Given the description of an element on the screen output the (x, y) to click on. 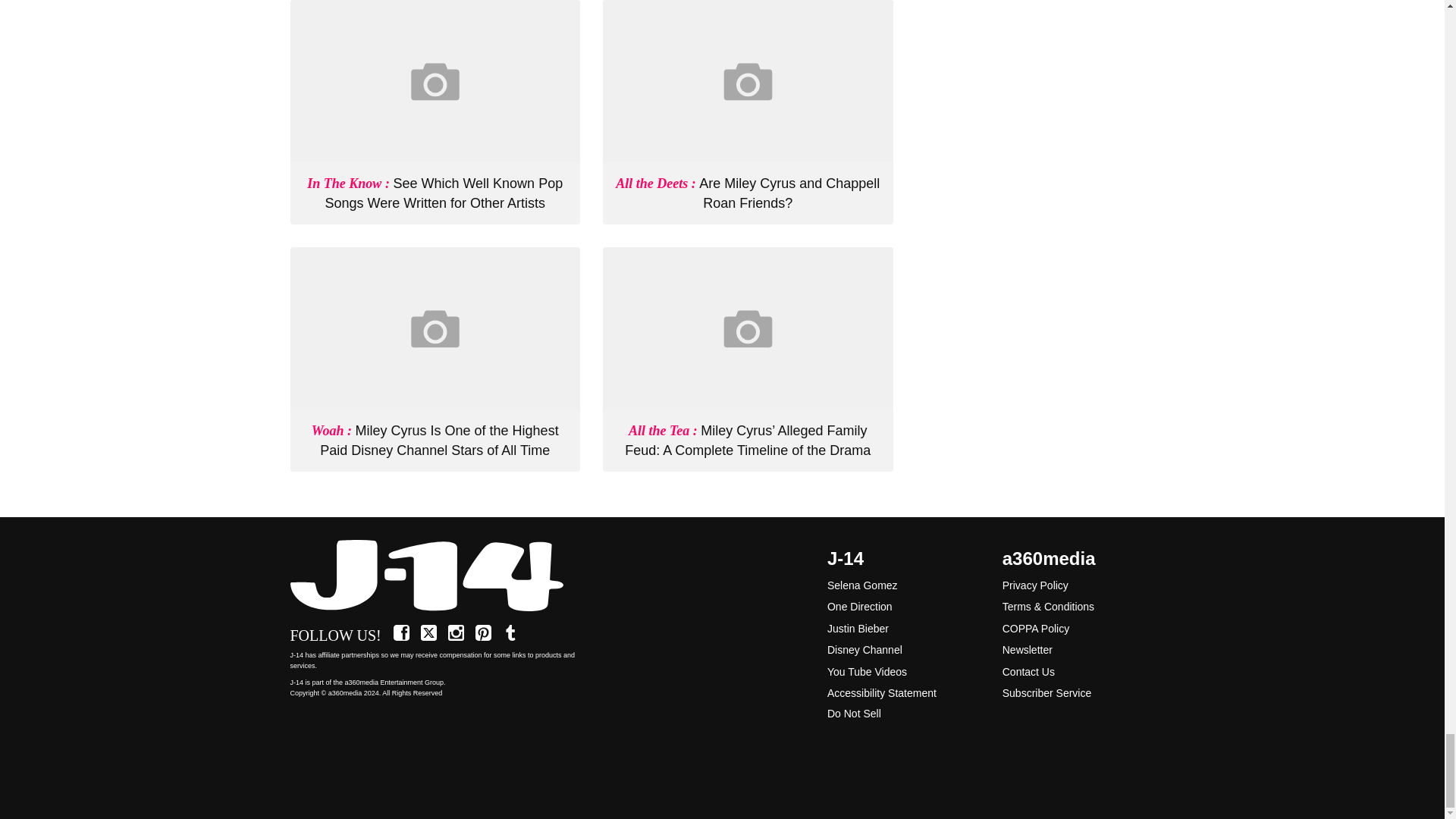
All the Deets Are Miley Cyrus and Chappell Roan Friends? (747, 193)
Home (434, 576)
